Given the description of an element on the screen output the (x, y) to click on. 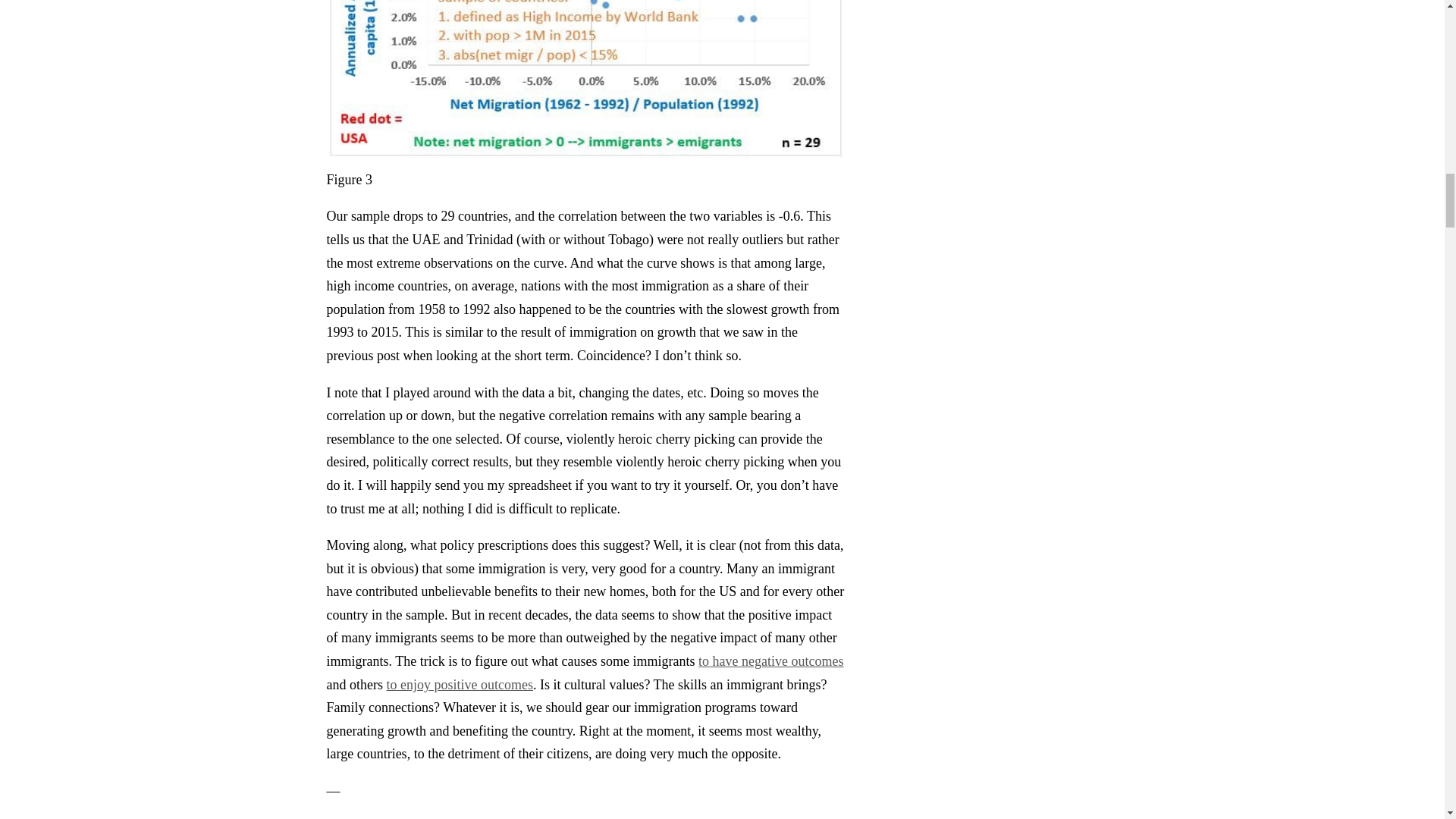
to have negative outcomes (770, 661)
to enjoy positive outcomes (458, 684)
